Given the description of an element on the screen output the (x, y) to click on. 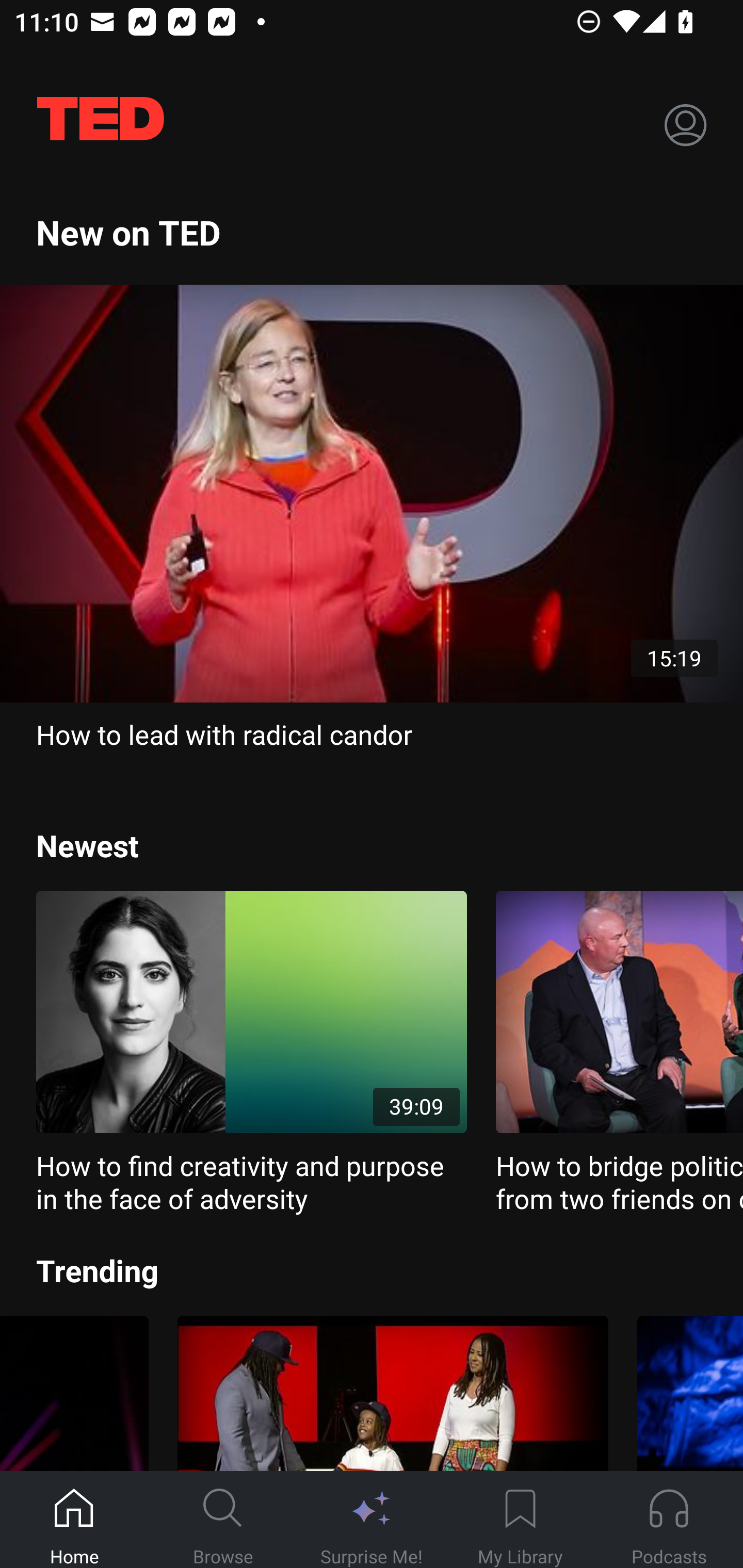
Home (74, 1520)
Browse (222, 1520)
Surprise Me! (371, 1520)
My Library (519, 1520)
Podcasts (668, 1520)
